Given the description of an element on the screen output the (x, y) to click on. 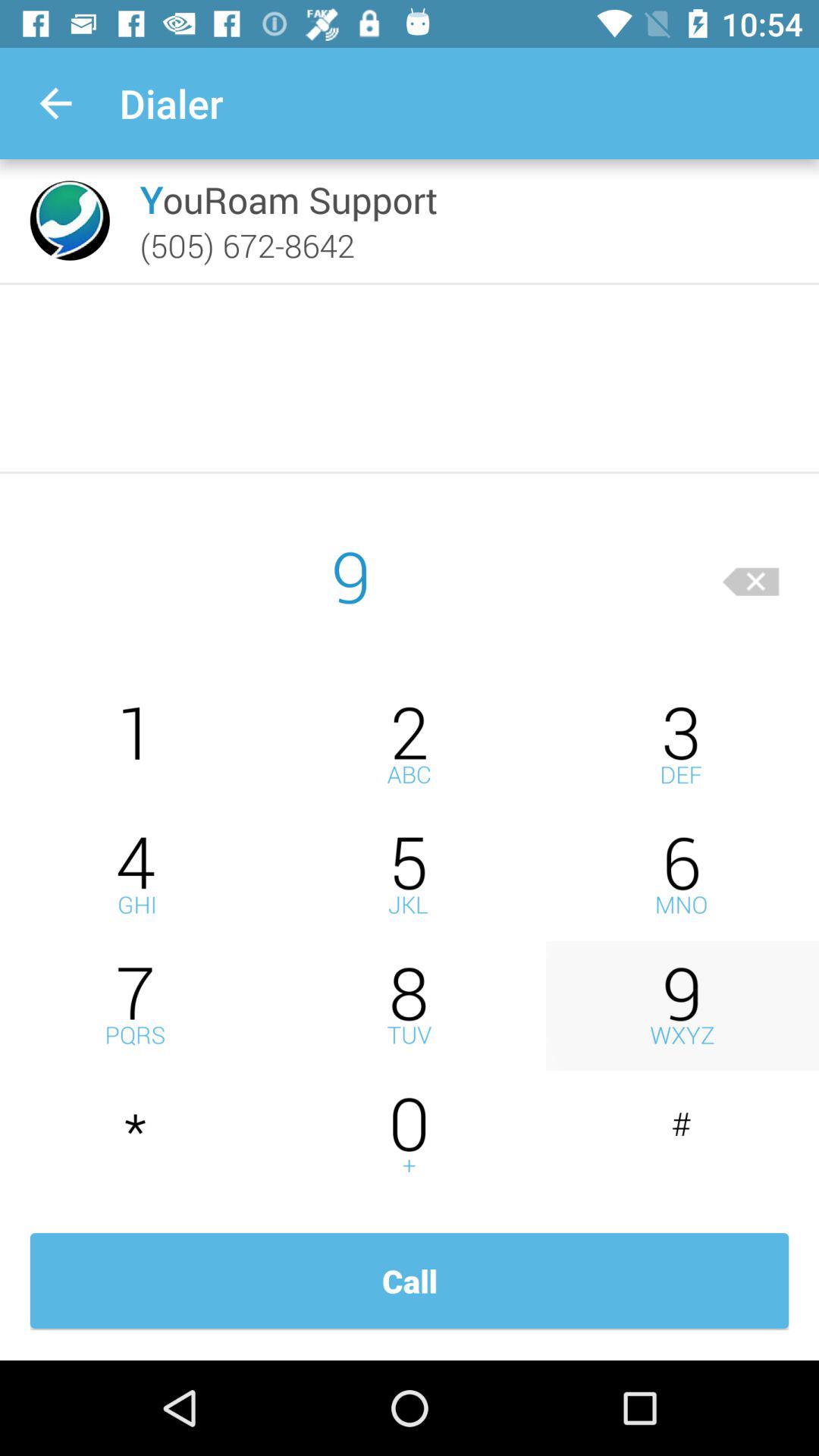
enter the 2 from a dialpad (409, 745)
